Given the description of an element on the screen output the (x, y) to click on. 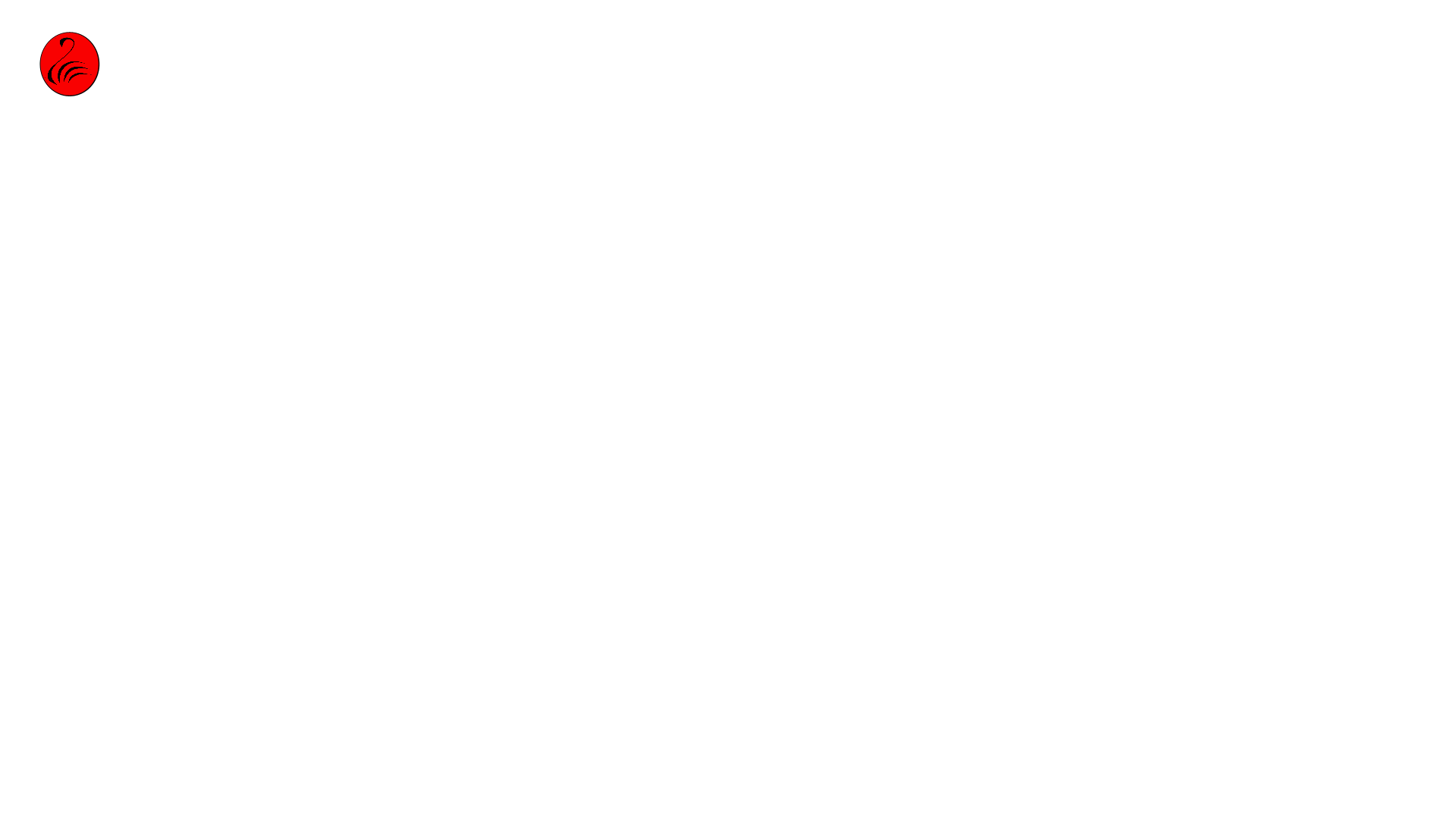
Contact Us Element type: text (1382, 43)
About Us Element type: text (1107, 43)
Memberships Element type: text (1244, 43)
Home Element type: text (1003, 43)
